Given the description of an element on the screen output the (x, y) to click on. 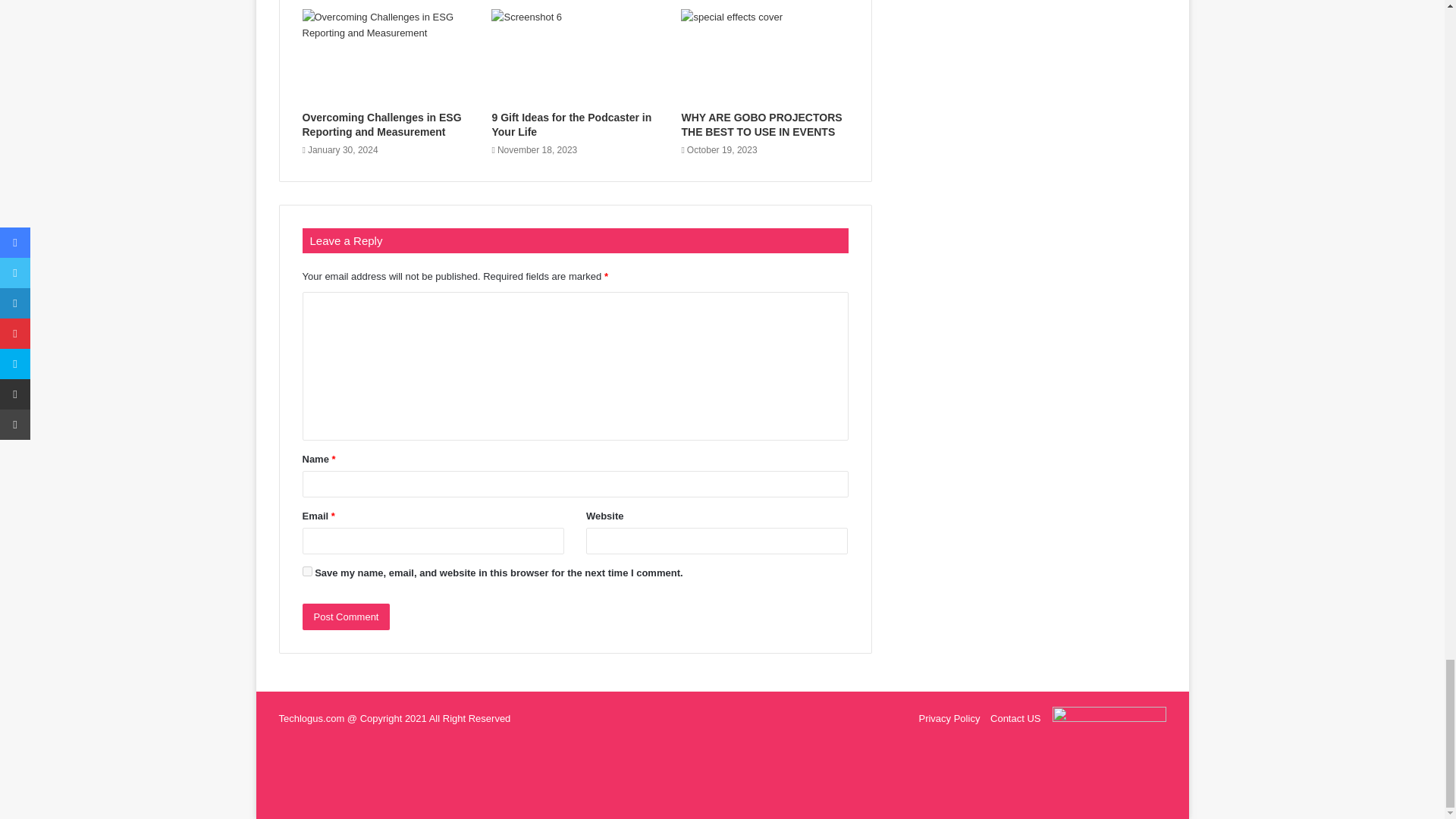
yes (306, 571)
Post Comment (345, 616)
